Given the description of an element on the screen output the (x, y) to click on. 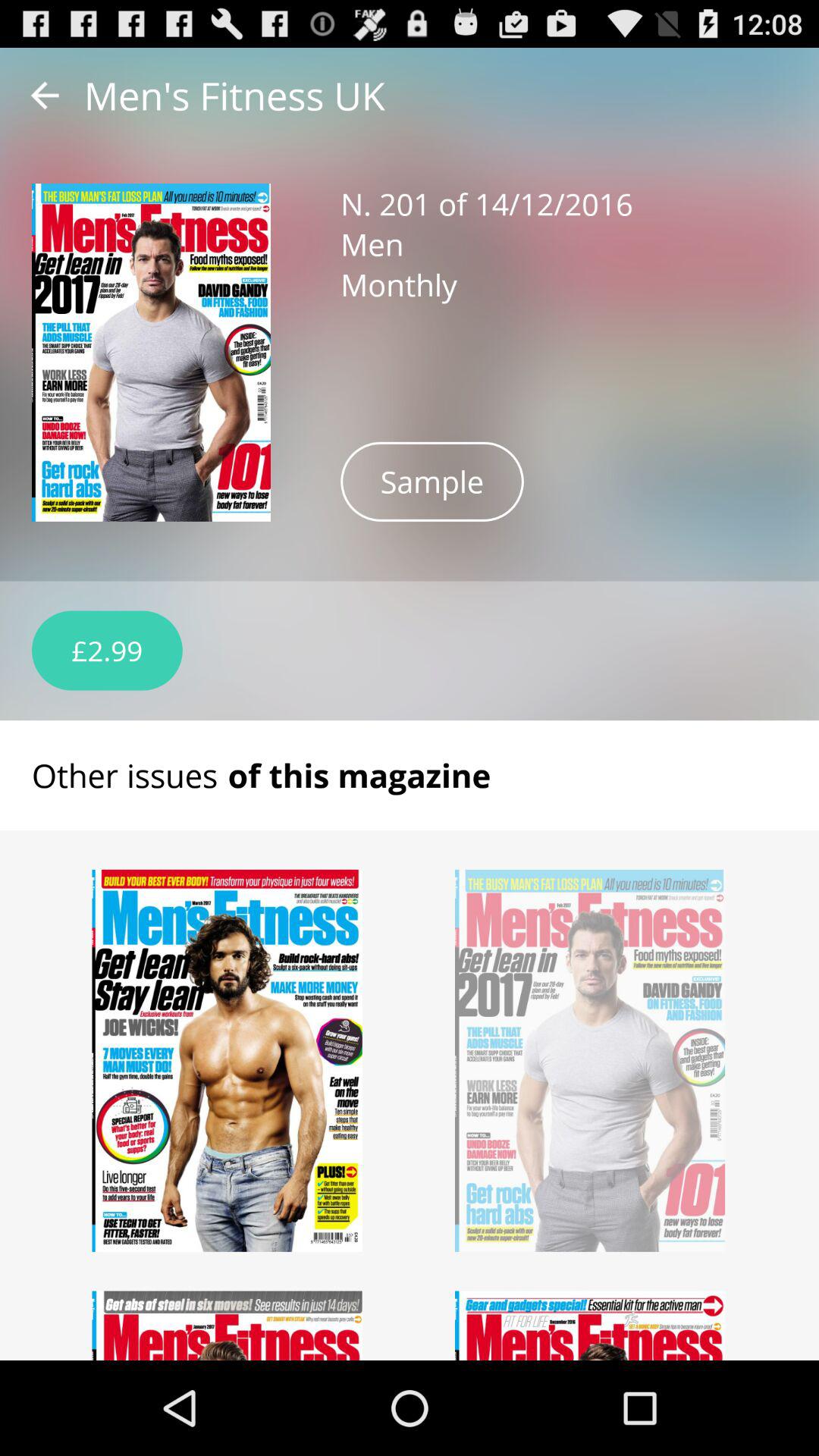
go to previous page (44, 95)
